Given the description of an element on the screen output the (x, y) to click on. 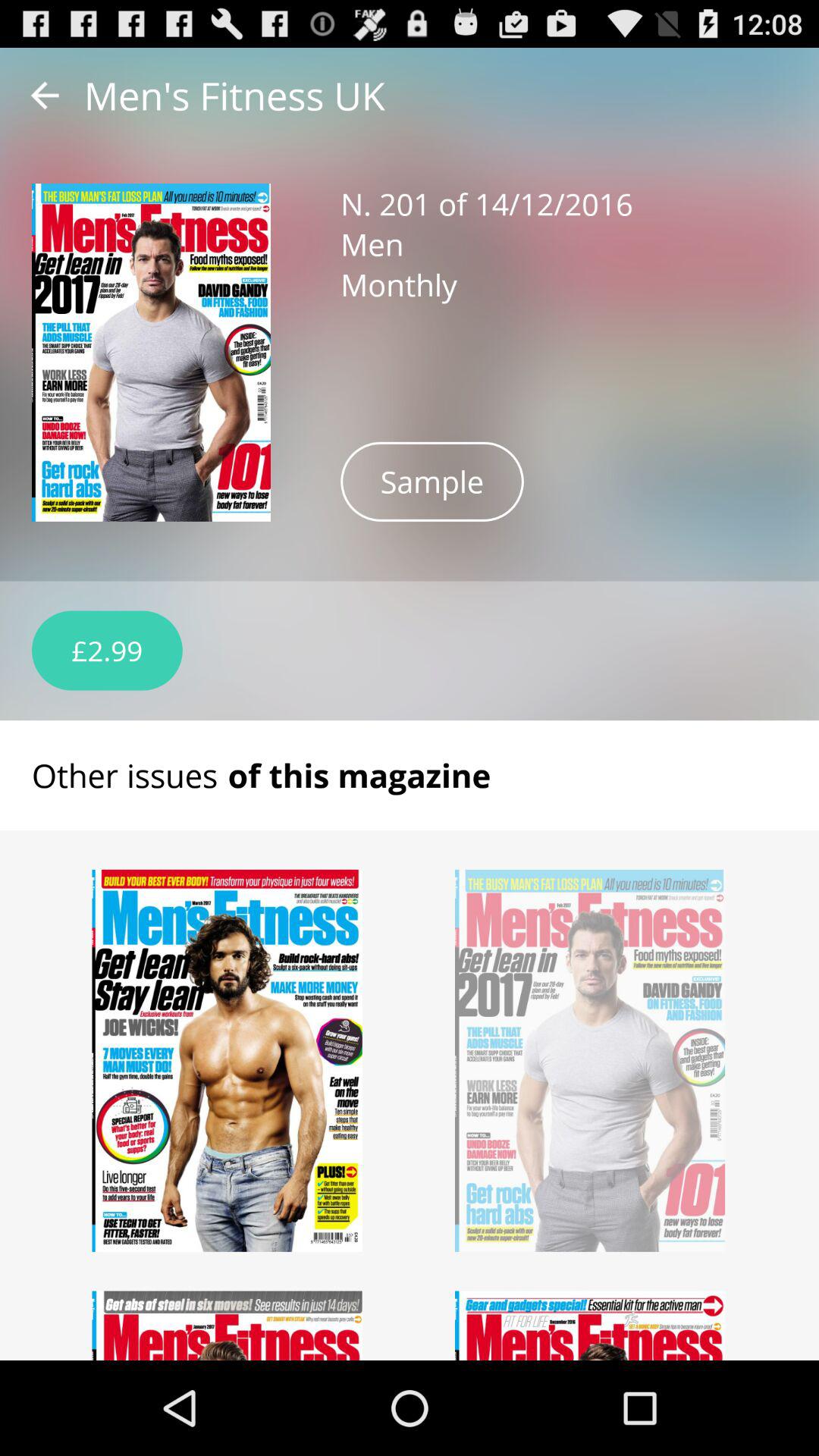
go to previous page (44, 95)
